Given the description of an element on the screen output the (x, y) to click on. 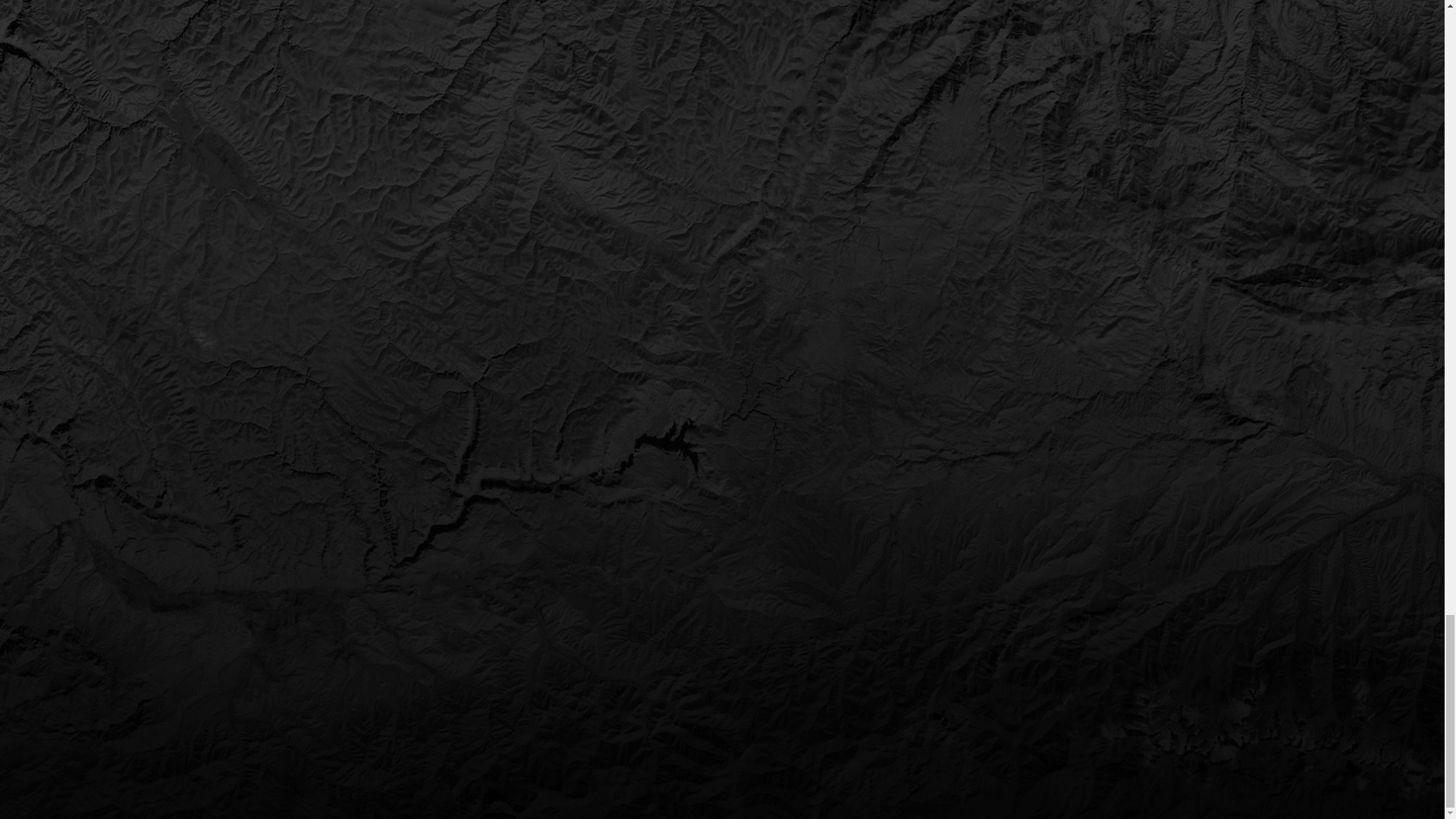
Submit (1101, 130)
